Given the description of an element on the screen output the (x, y) to click on. 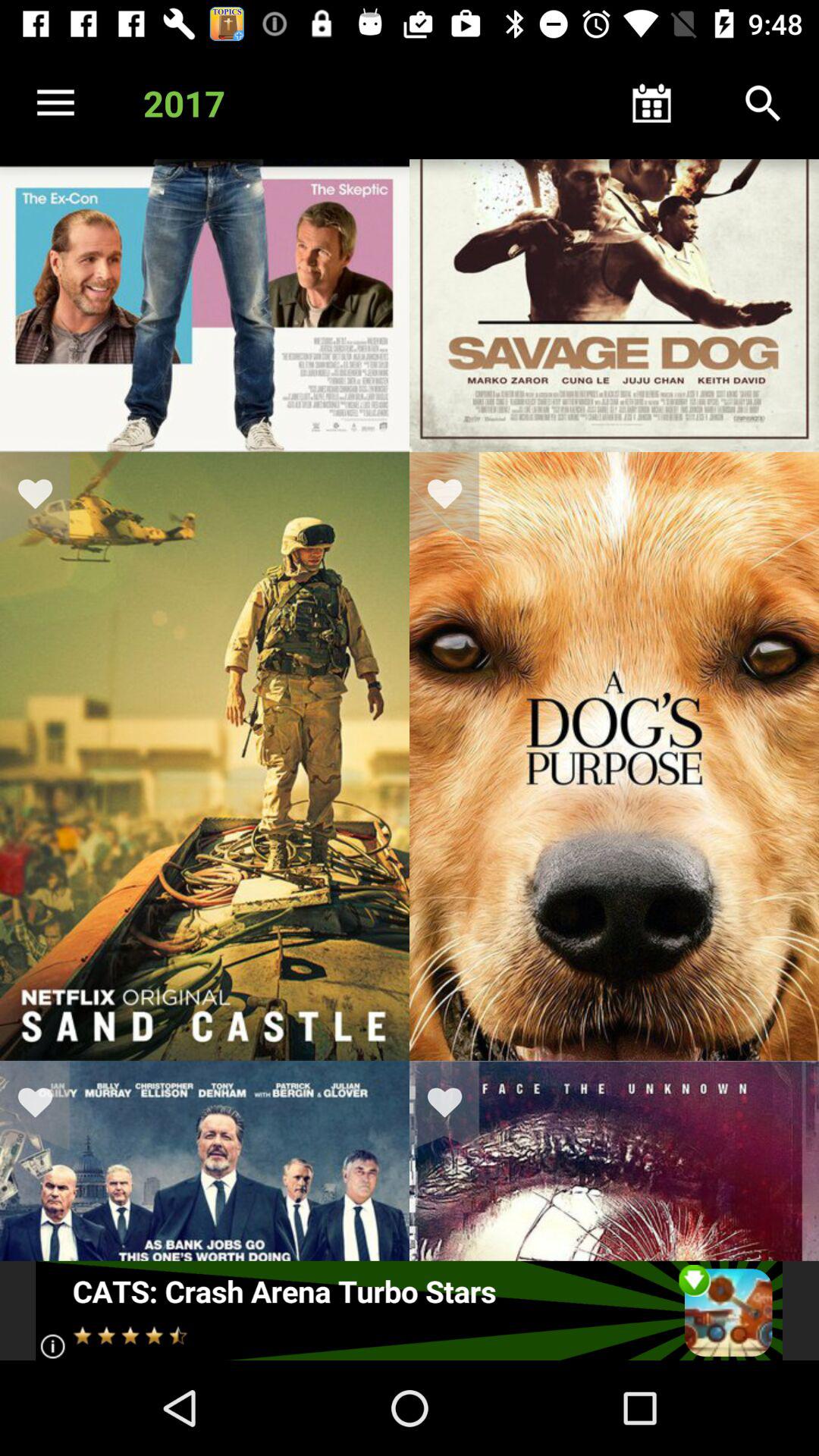
favorite selection (454, 1105)
